Given the description of an element on the screen output the (x, y) to click on. 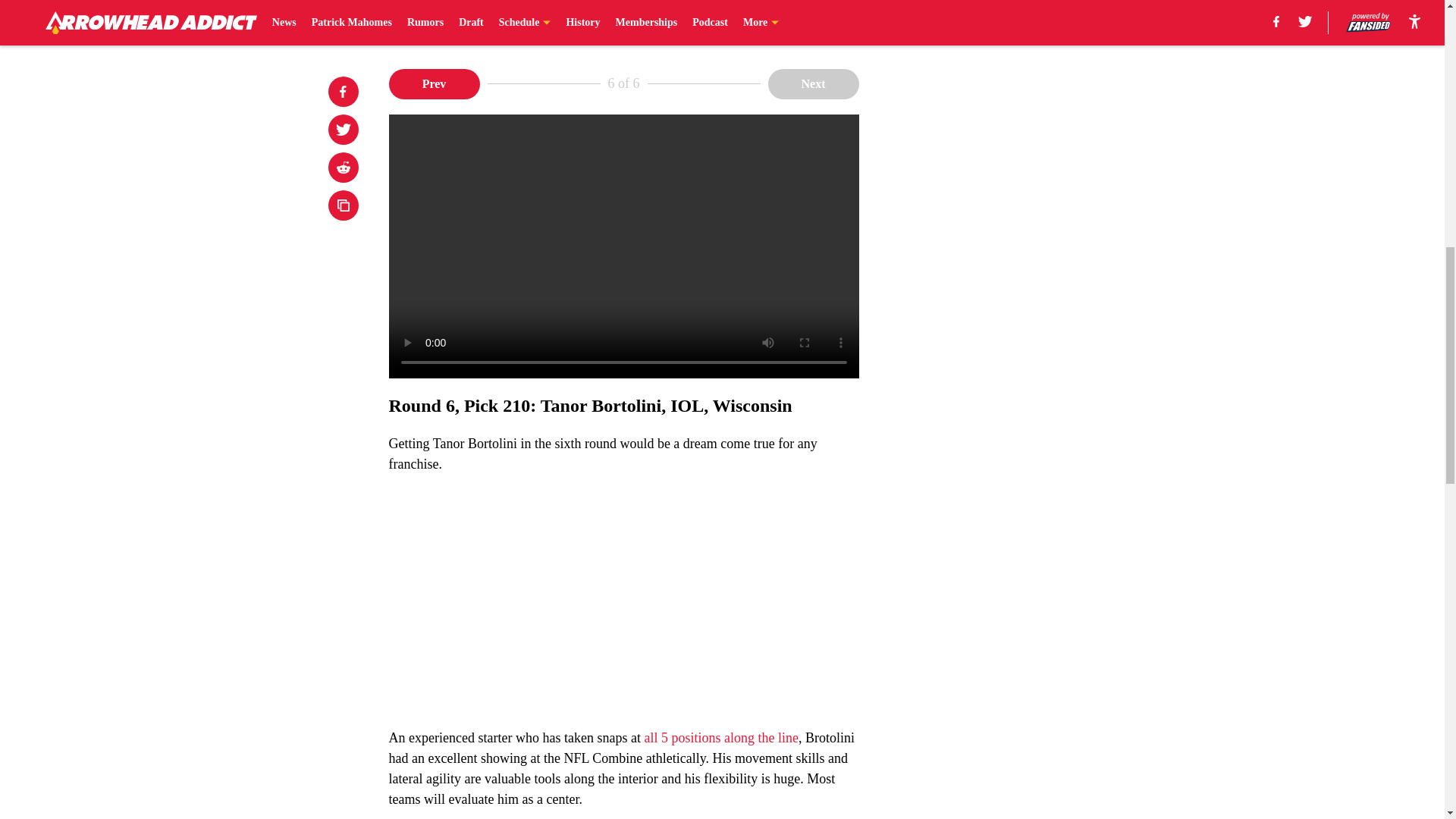
Prev (433, 82)
3rd party ad content (1047, 162)
all 5 positions along the line (720, 737)
3rd party ad content (1047, 382)
Next (813, 82)
